Given the description of an element on the screen output the (x, y) to click on. 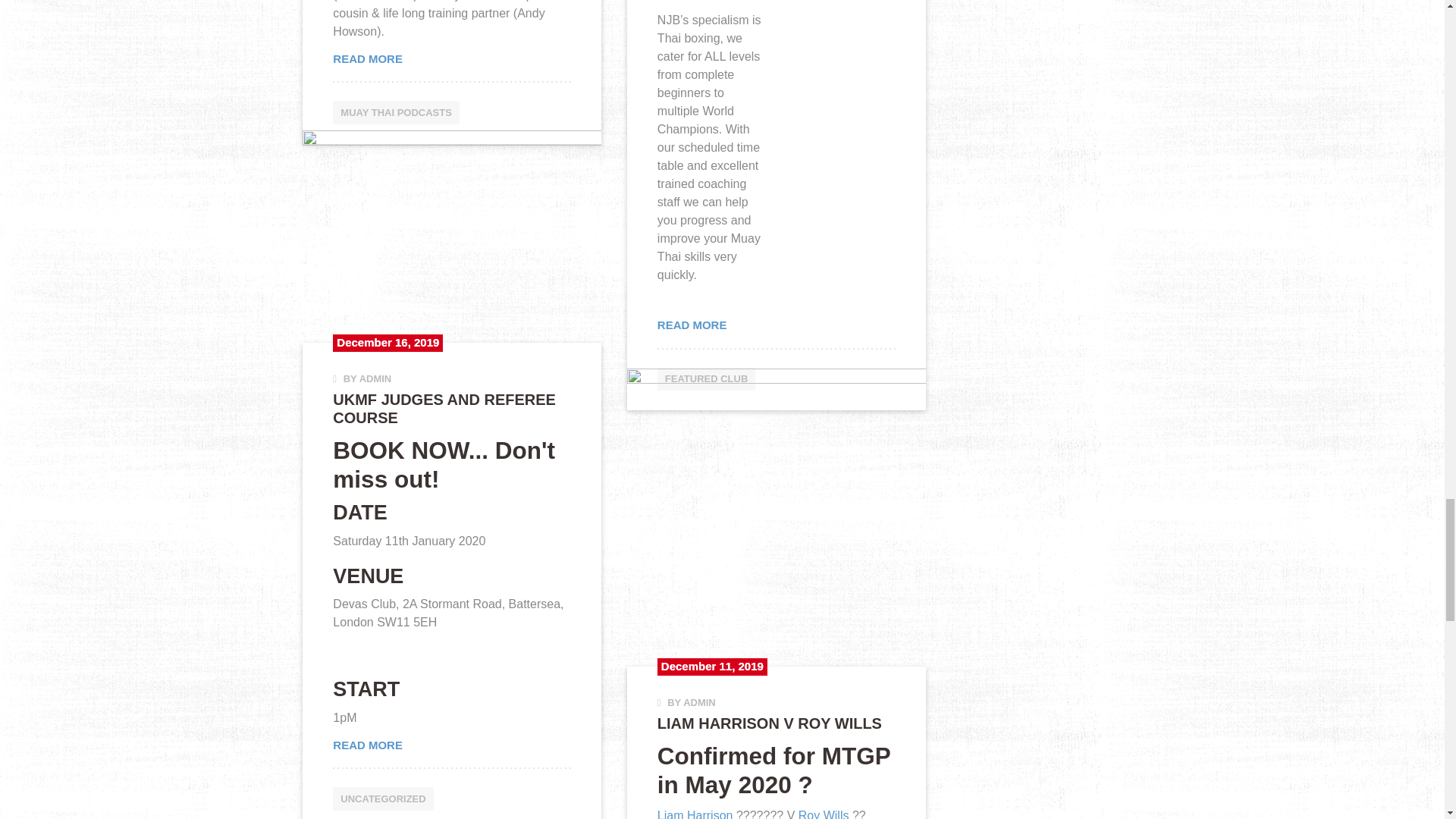
Roy Wills (822, 814)
